Given the description of an element on the screen output the (x, y) to click on. 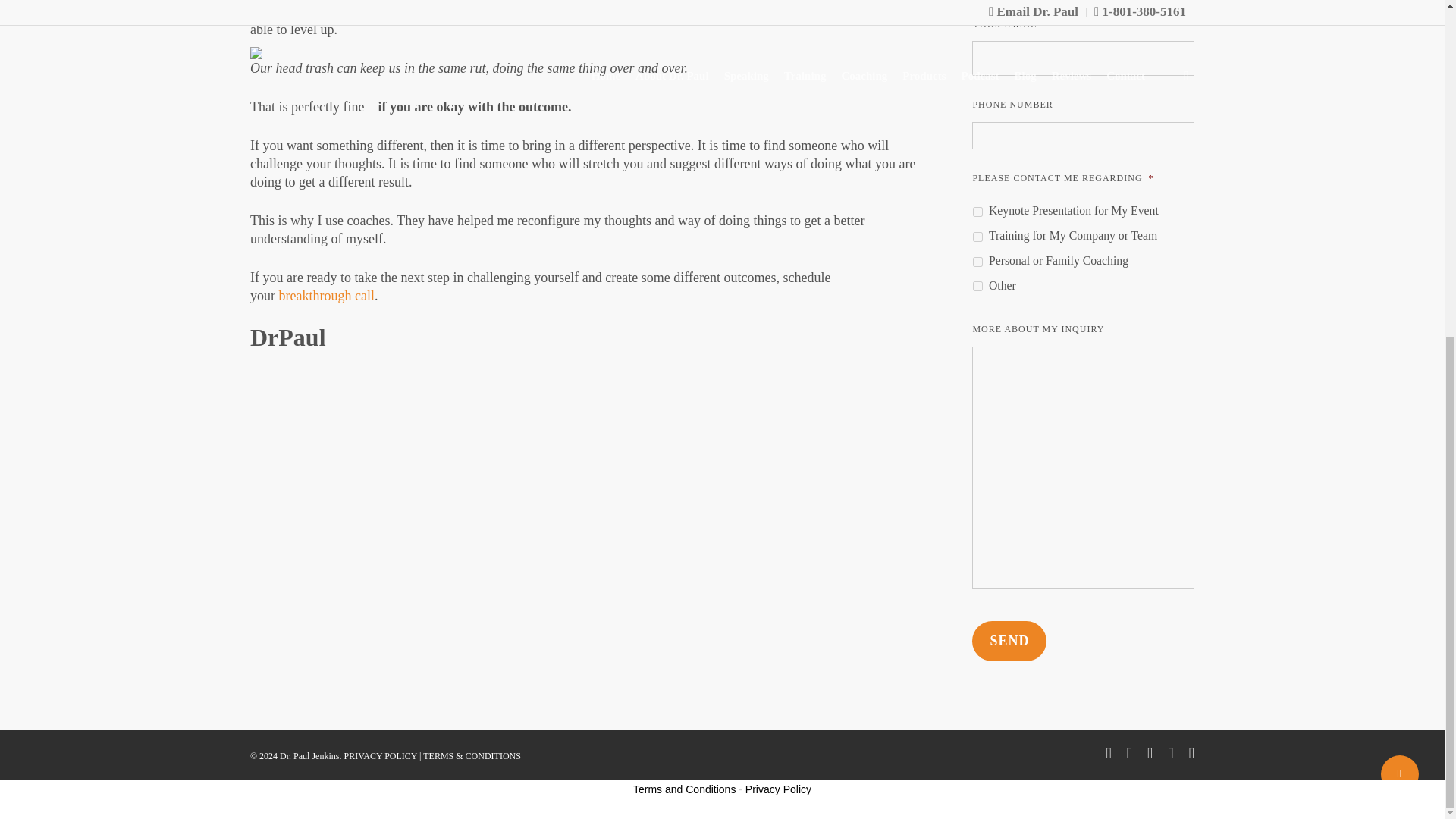
breakthrough call (326, 295)
Other (977, 286)
PRIVACY POLICY (379, 756)
Send (1009, 640)
Training for My Company or Team (977, 236)
Personal or Family Coaching (977, 261)
Keynote Presentation for My Event (977, 212)
Send (1009, 640)
